Given the description of an element on the screen output the (x, y) to click on. 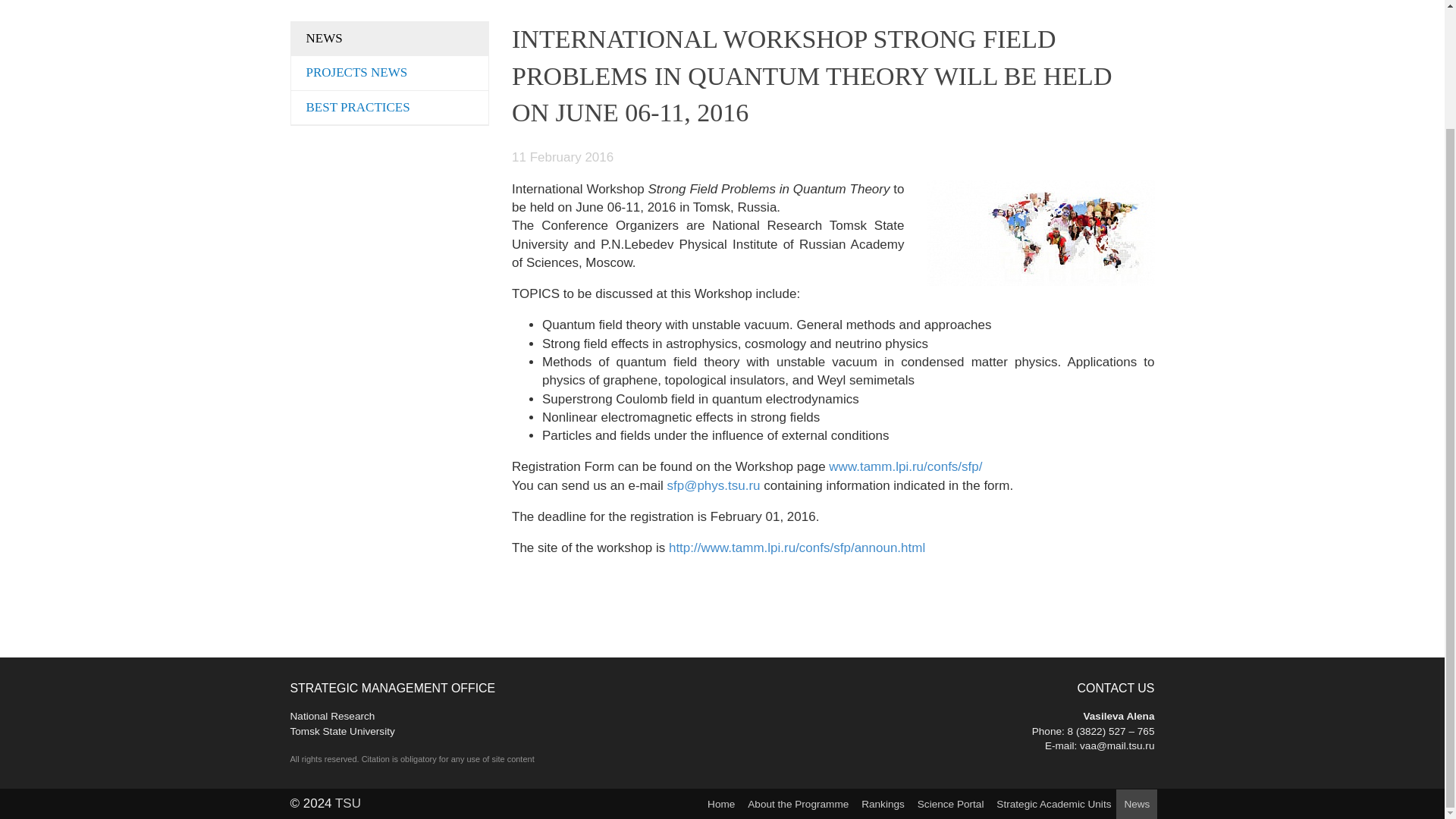
BEST PRACTICES (390, 107)
TSU (347, 803)
NEWS (341, 723)
PROJECTS NEWS (390, 39)
